Given the description of an element on the screen output the (x, y) to click on. 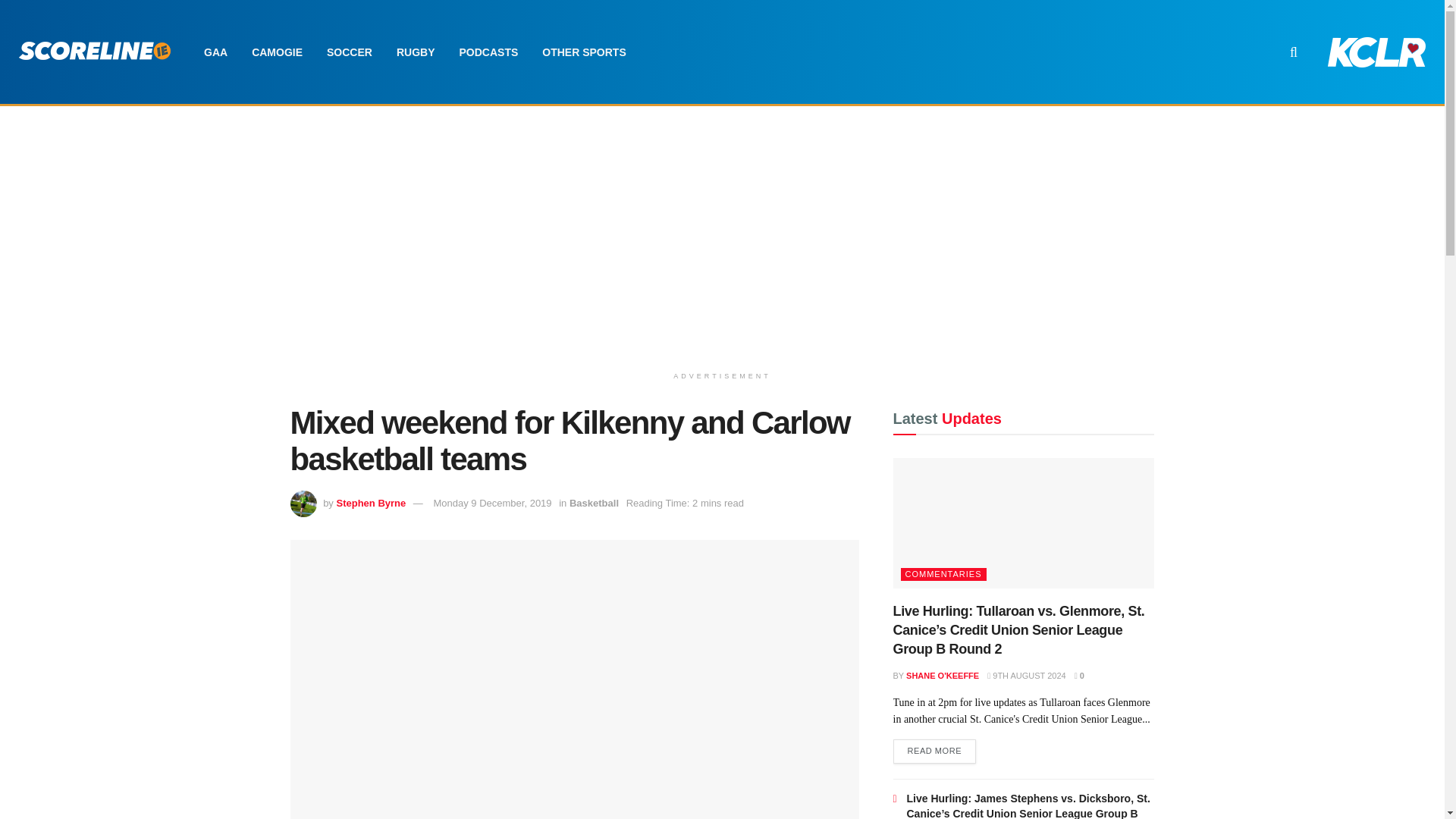
Monday 9 December, 2019 (491, 502)
SHANE O'KEEFFE (941, 675)
9TH AUGUST 2024 (1026, 675)
0 (1079, 675)
SOCCER (349, 52)
OTHER SPORTS (583, 52)
RUGBY (415, 52)
COMMENTARIES (944, 574)
READ MORE (934, 751)
Stephen Byrne (371, 502)
